Given the description of an element on the screen output the (x, y) to click on. 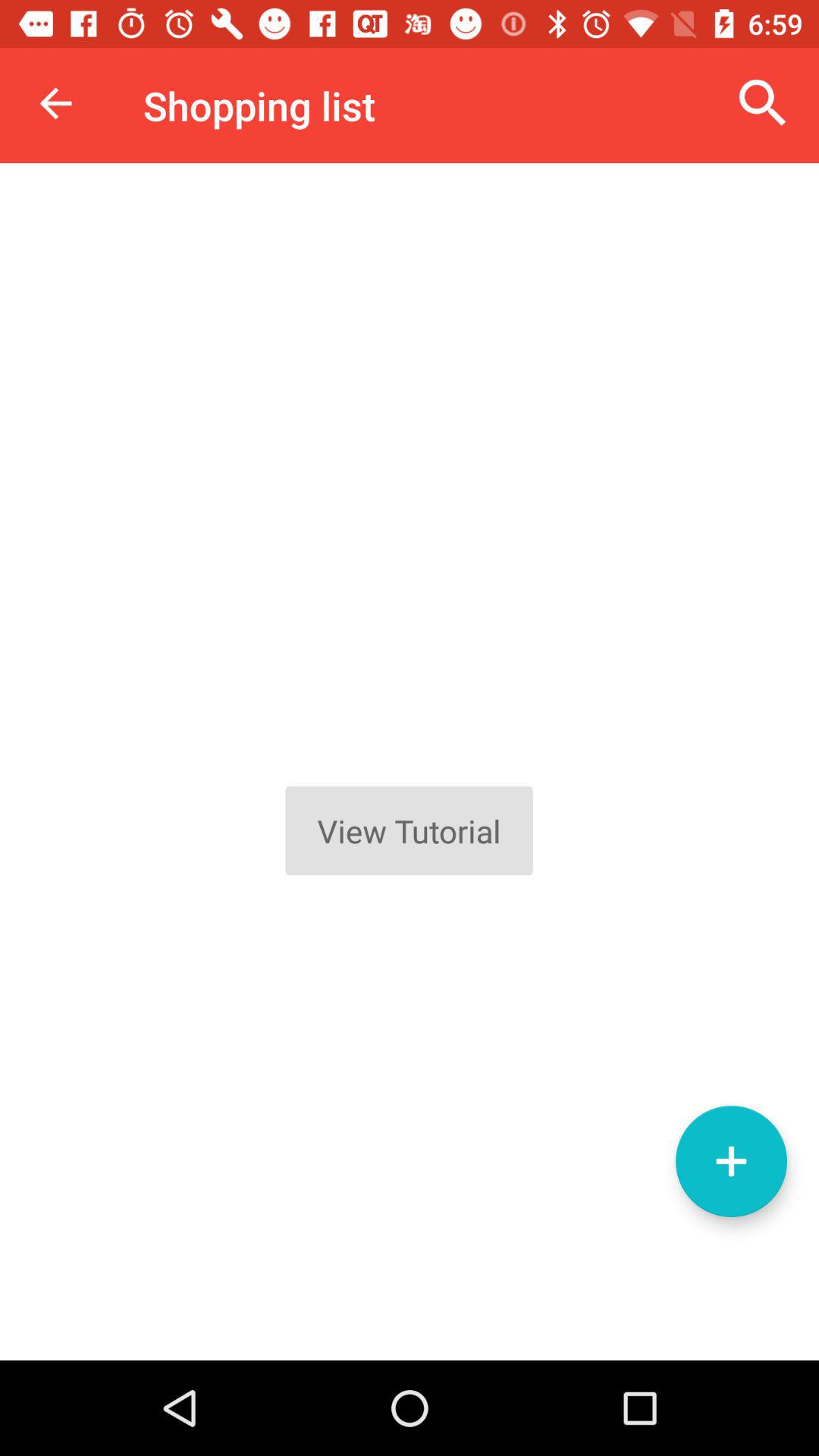
click icon next to the shopping list item (763, 103)
